Given the description of an element on the screen output the (x, y) to click on. 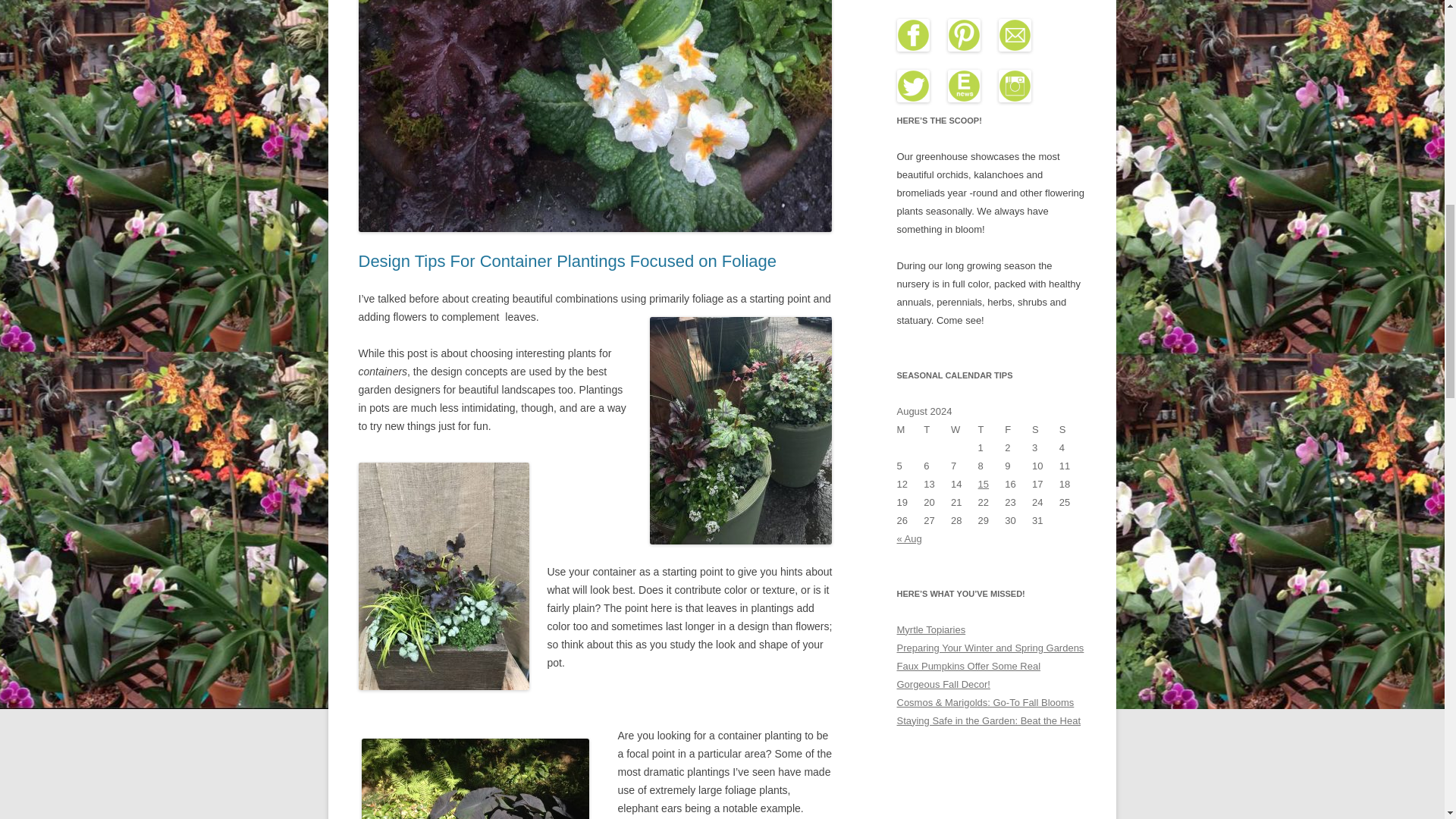
Tuesday (936, 429)
Friday (1018, 429)
Monday (909, 429)
Wednesday (964, 429)
Saturday (1045, 429)
Design Tips For Container Plantings Focused on Foliage (567, 261)
Sunday (1072, 429)
Thursday (992, 429)
